Given the description of an element on the screen output the (x, y) to click on. 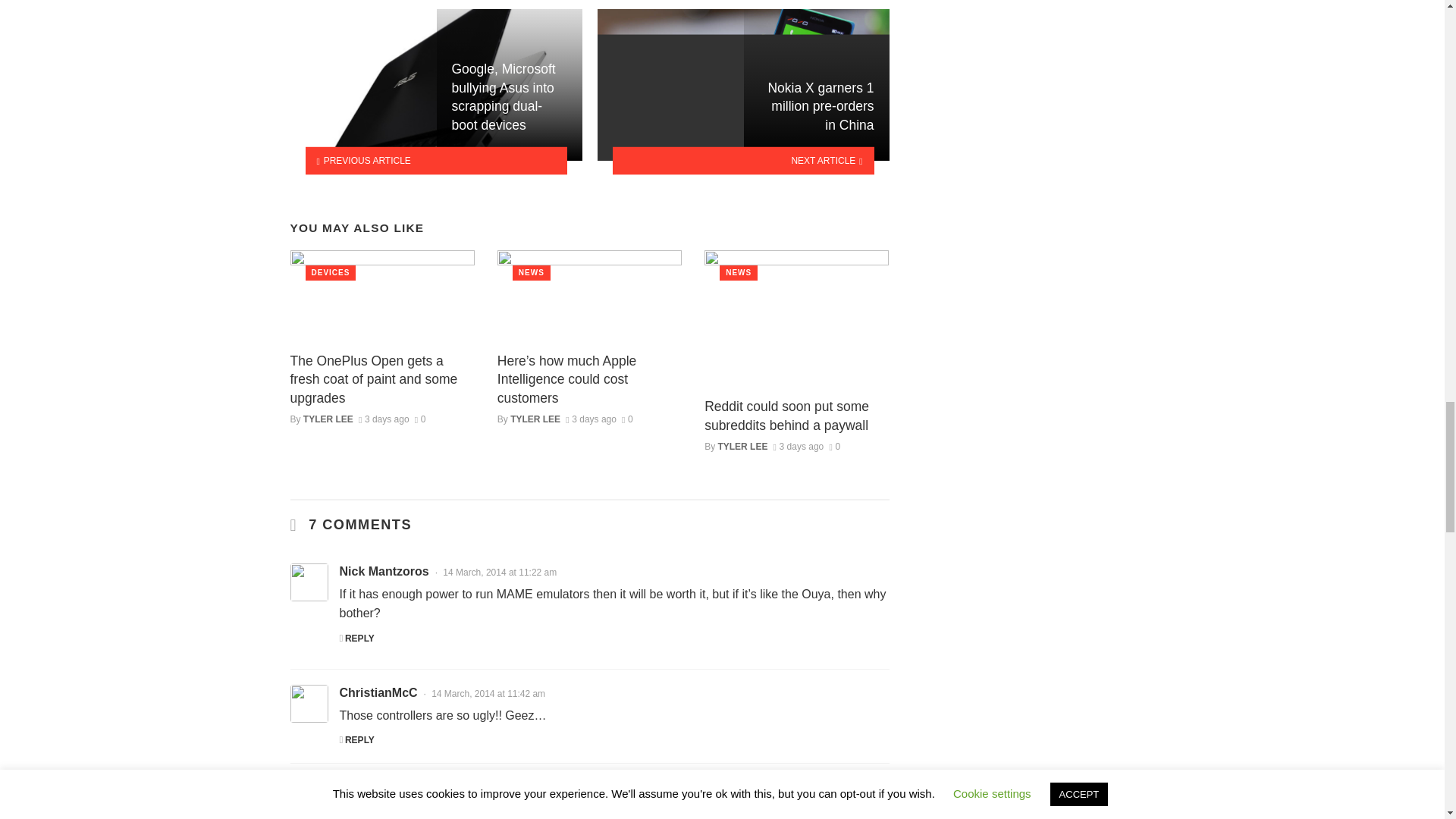
0 Comments (420, 419)
PREVIOUS ARTICLE (434, 160)
August 9, 2024 at 12:30 am (590, 419)
August 9, 2024 at 3:57 am (383, 419)
